Given the description of an element on the screen output the (x, y) to click on. 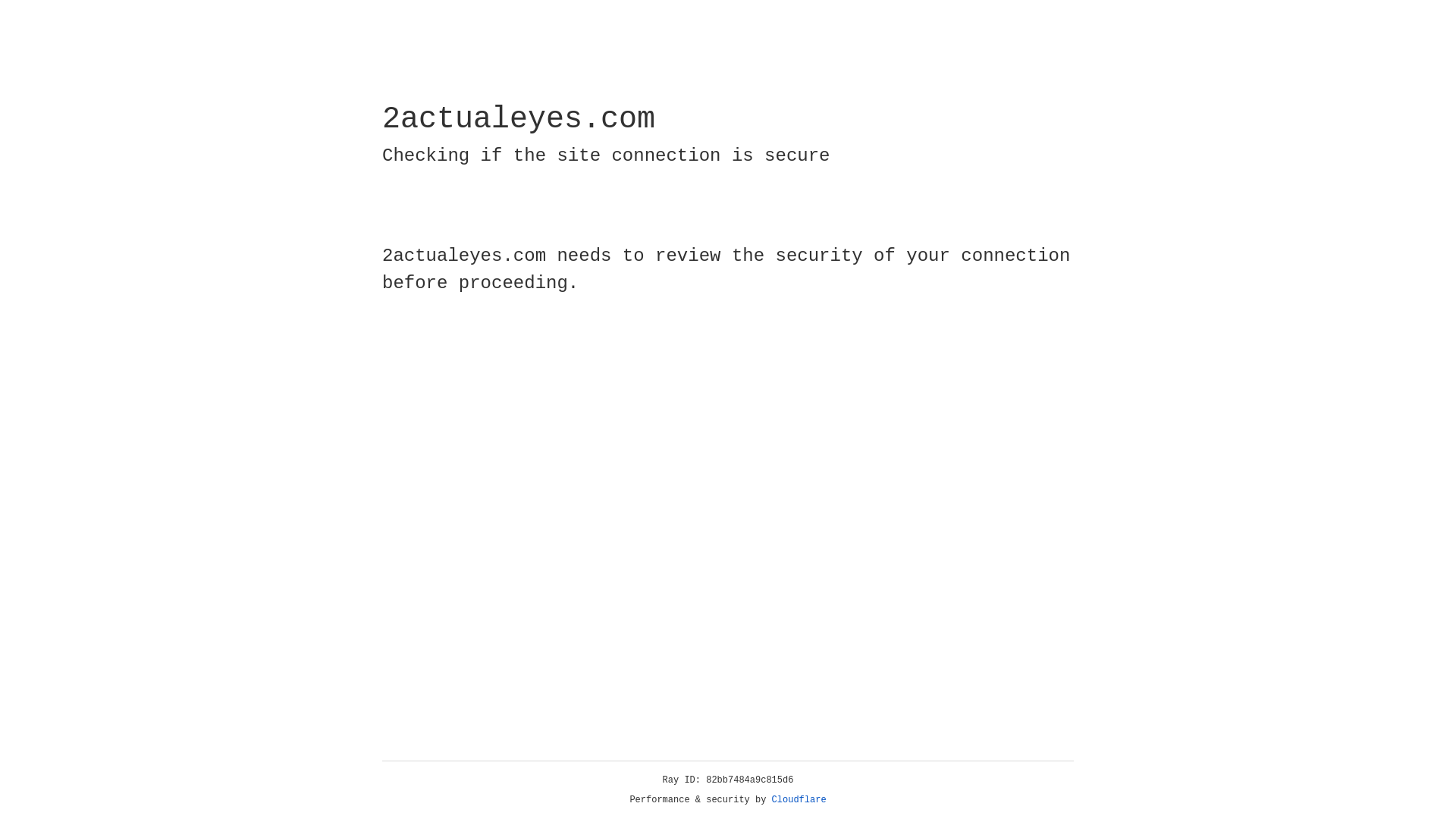
Cloudflare Element type: text (798, 799)
